Given the description of an element on the screen output the (x, y) to click on. 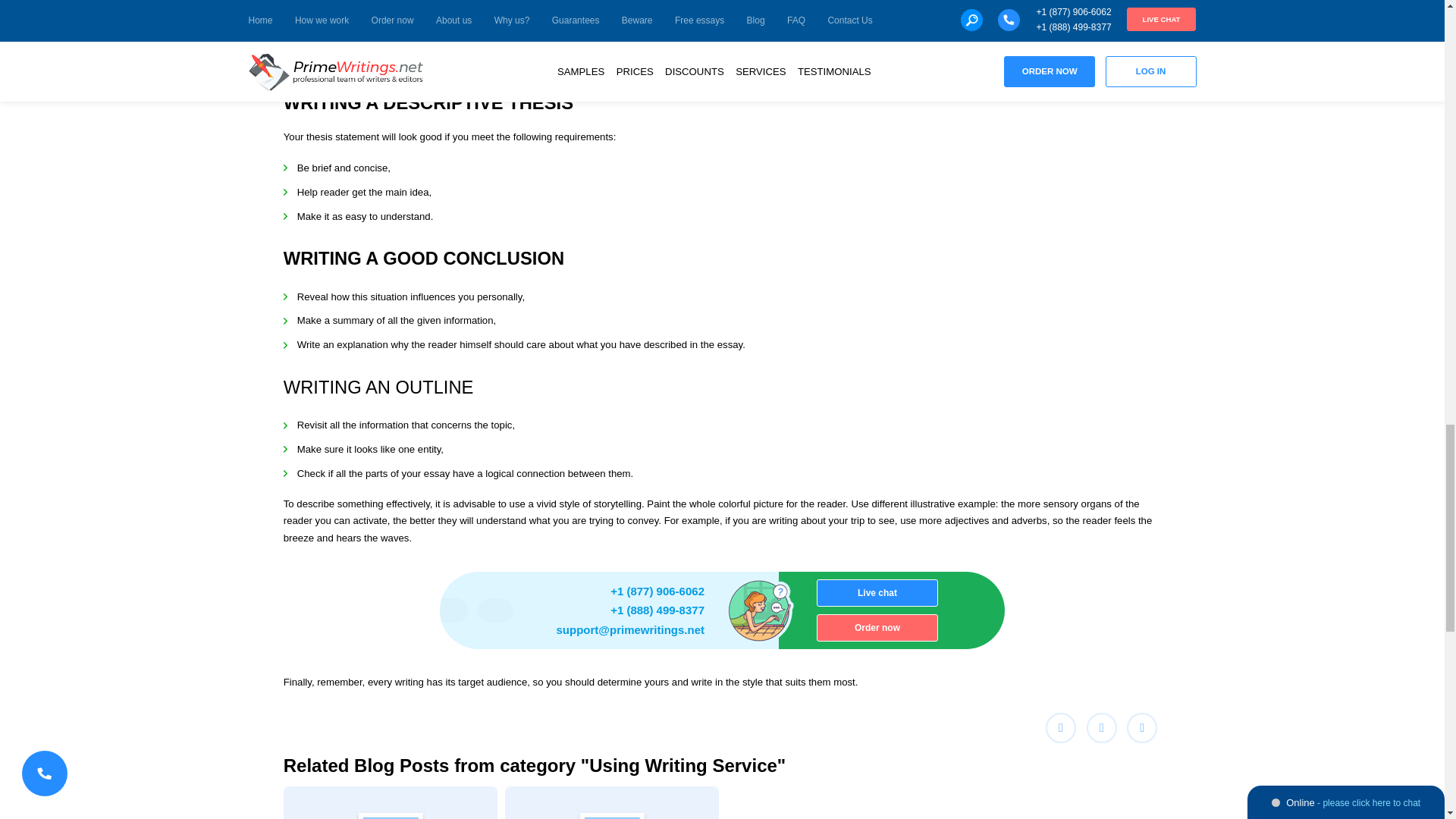
Share on Pinterest (1141, 727)
Books for Better World Perception (612, 802)
Share on Twitter (1101, 727)
Dissertation Conclusion Chapter Writing (390, 802)
Share on Facebook (1060, 727)
